Given the description of an element on the screen output the (x, y) to click on. 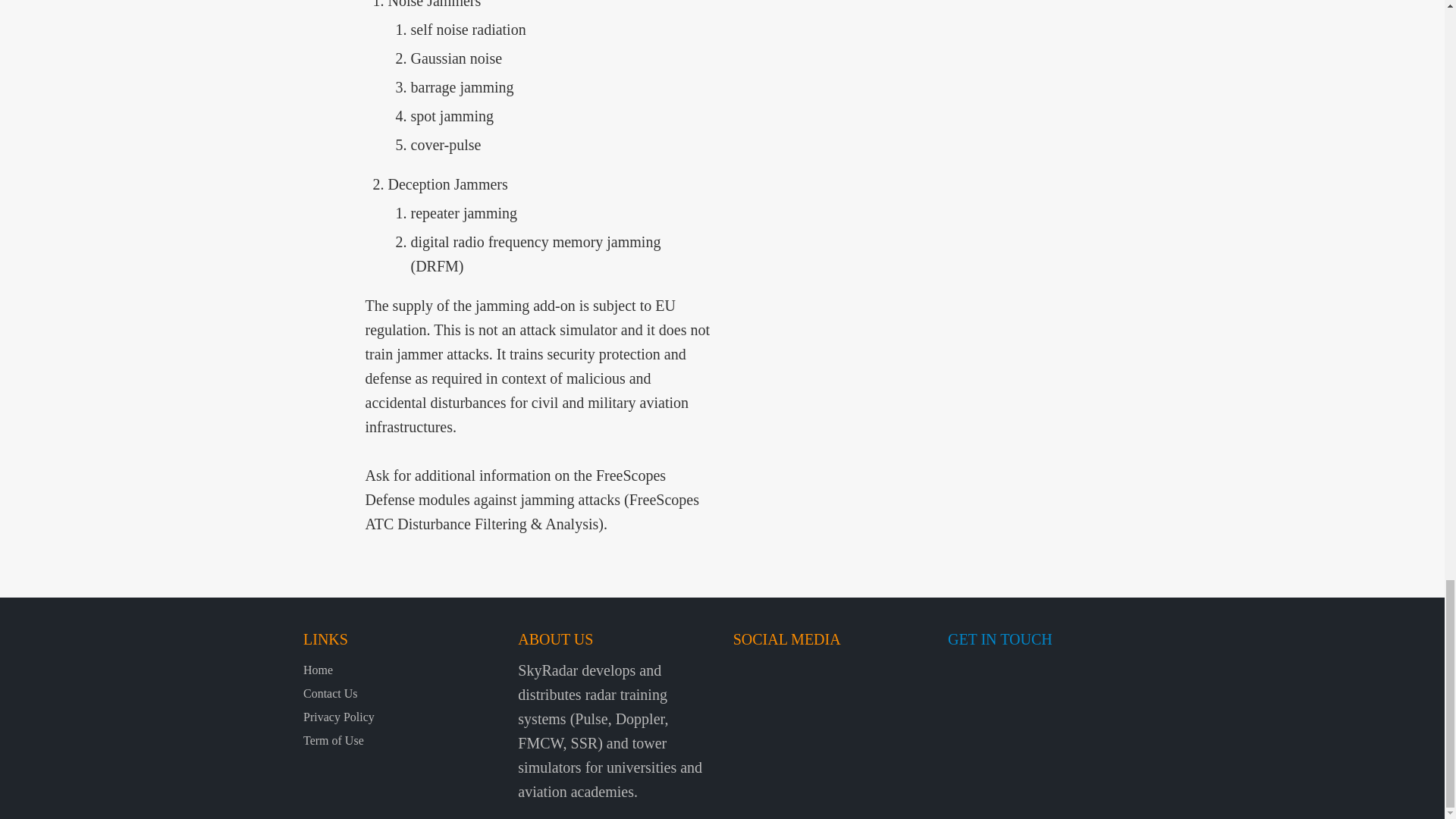
Term of Use (333, 739)
Privacy Policy (338, 716)
GET IN TOUCH (999, 638)
Home (317, 669)
Contact Us (330, 693)
